Given the description of an element on the screen output the (x, y) to click on. 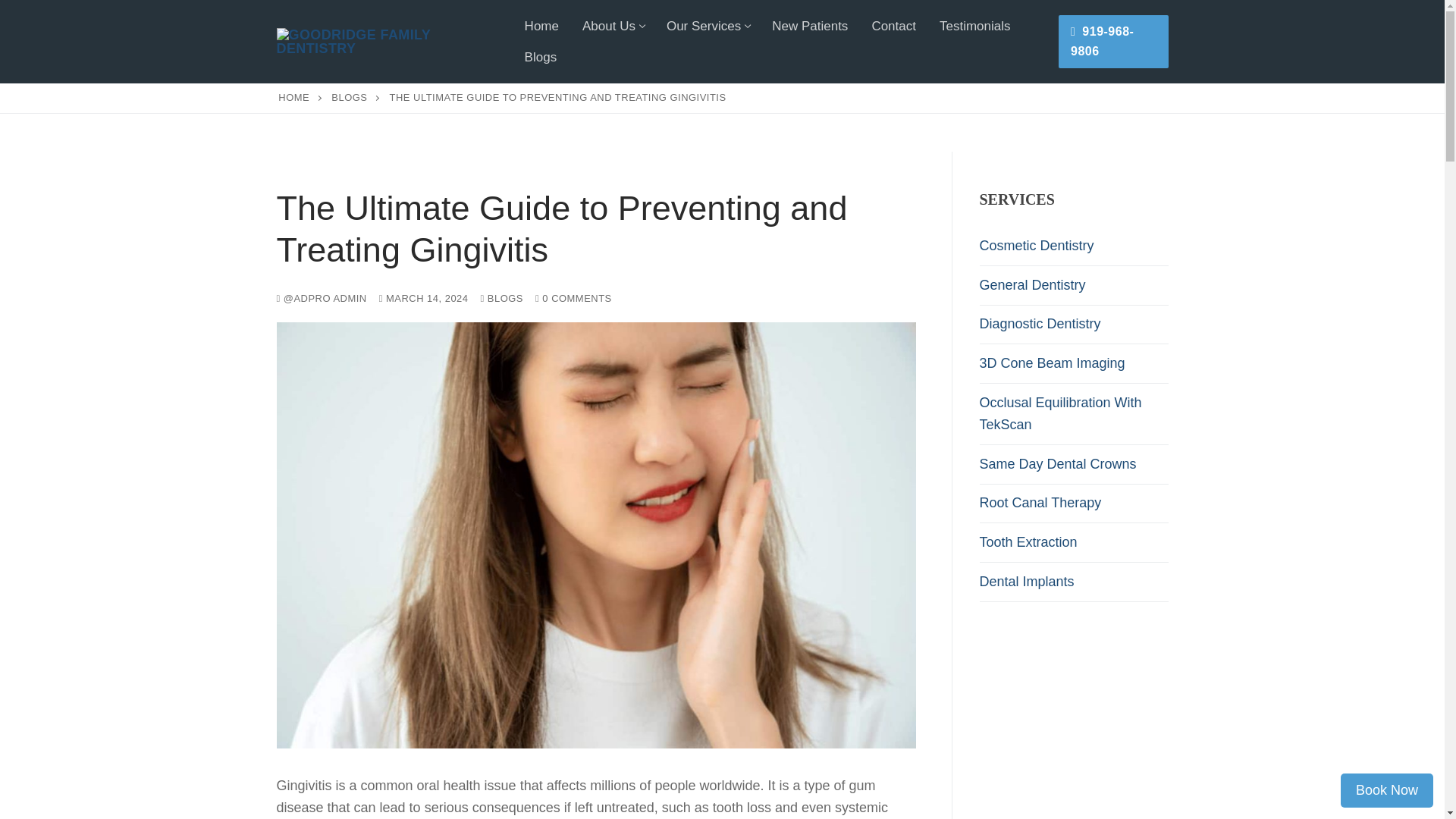
Blogs (541, 56)
Contact (893, 25)
Testimonials (975, 25)
Home (542, 25)
New Patients (707, 25)
919-968-9806 (612, 25)
